Given the description of an element on the screen output the (x, y) to click on. 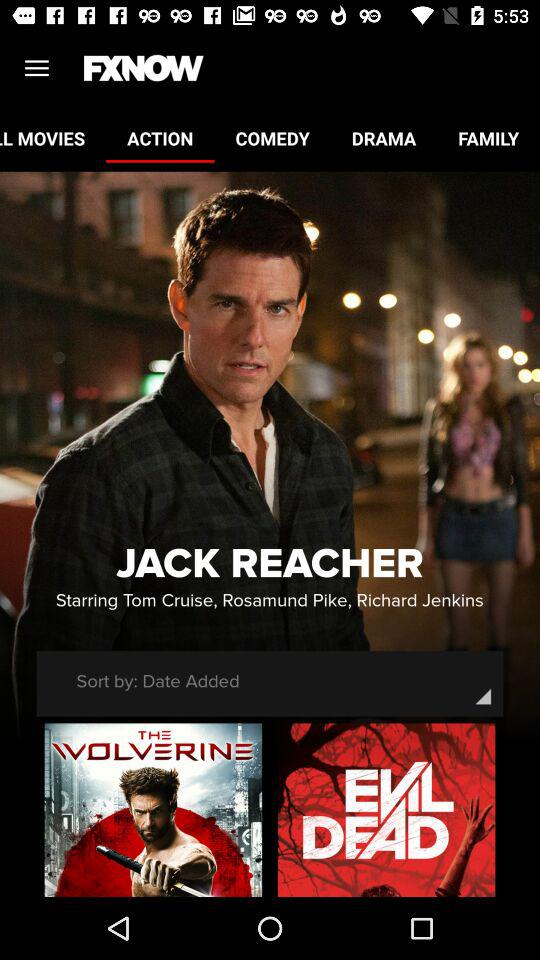
launch icon below the starring tom cruise item (157, 681)
